Given the description of an element on the screen output the (x, y) to click on. 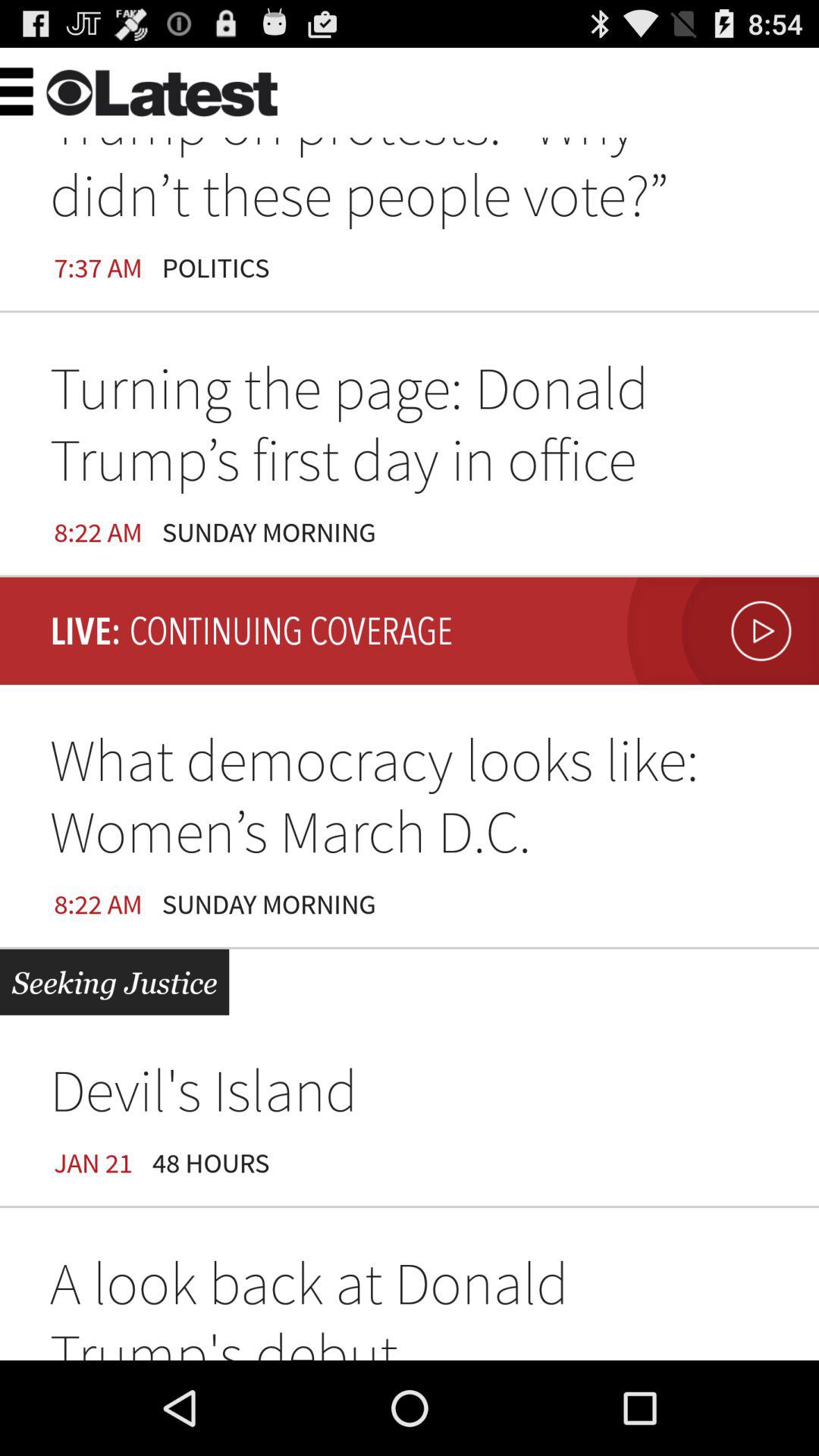
open video or audio stream about news coverage (719, 630)
